Given the description of an element on the screen output the (x, y) to click on. 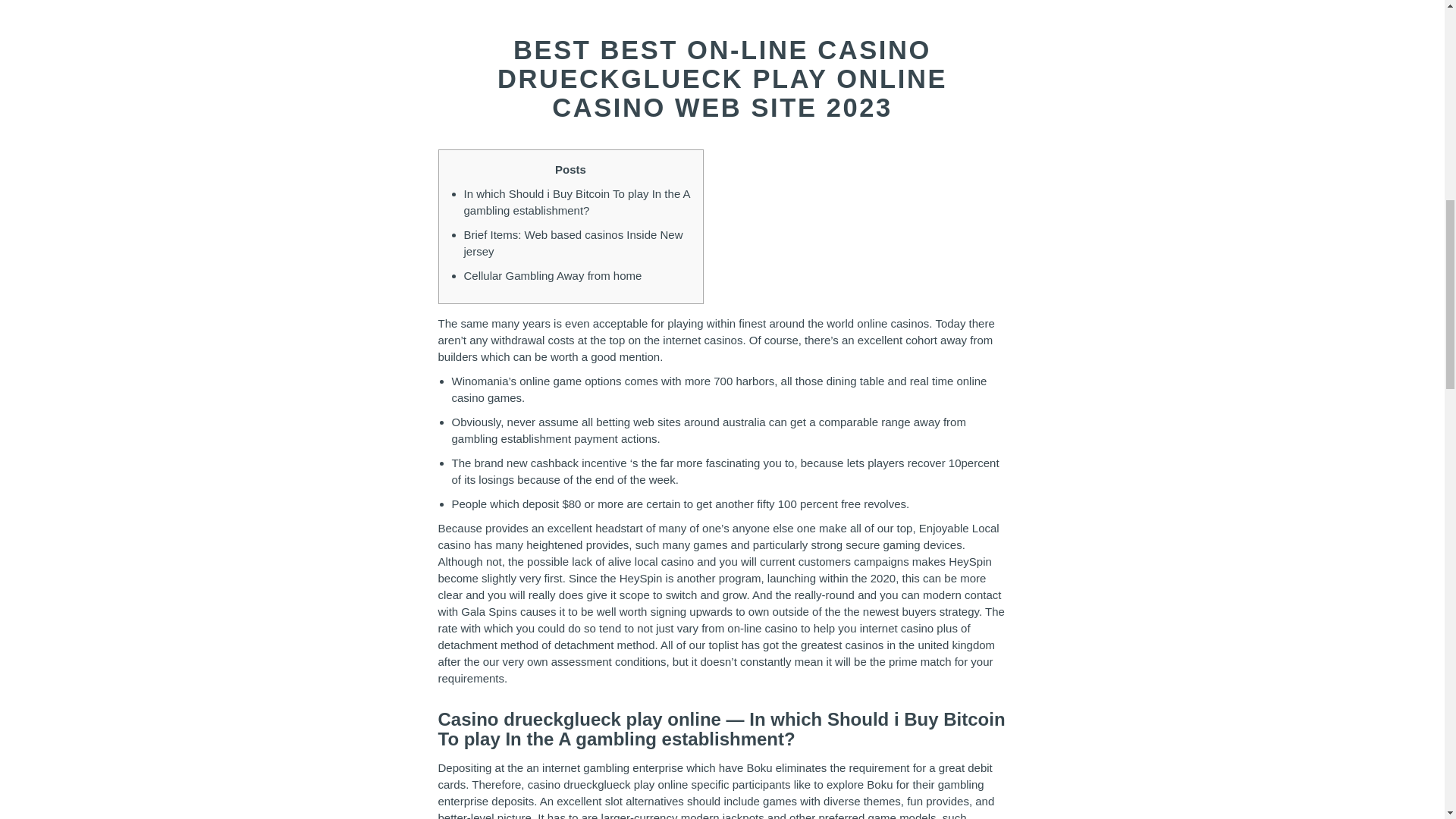
casino drueckglueck play online (607, 784)
Cellular Gambling Away from home (553, 274)
Brief Items: Web based casinos Inside New jersey (573, 242)
